Given the description of an element on the screen output the (x, y) to click on. 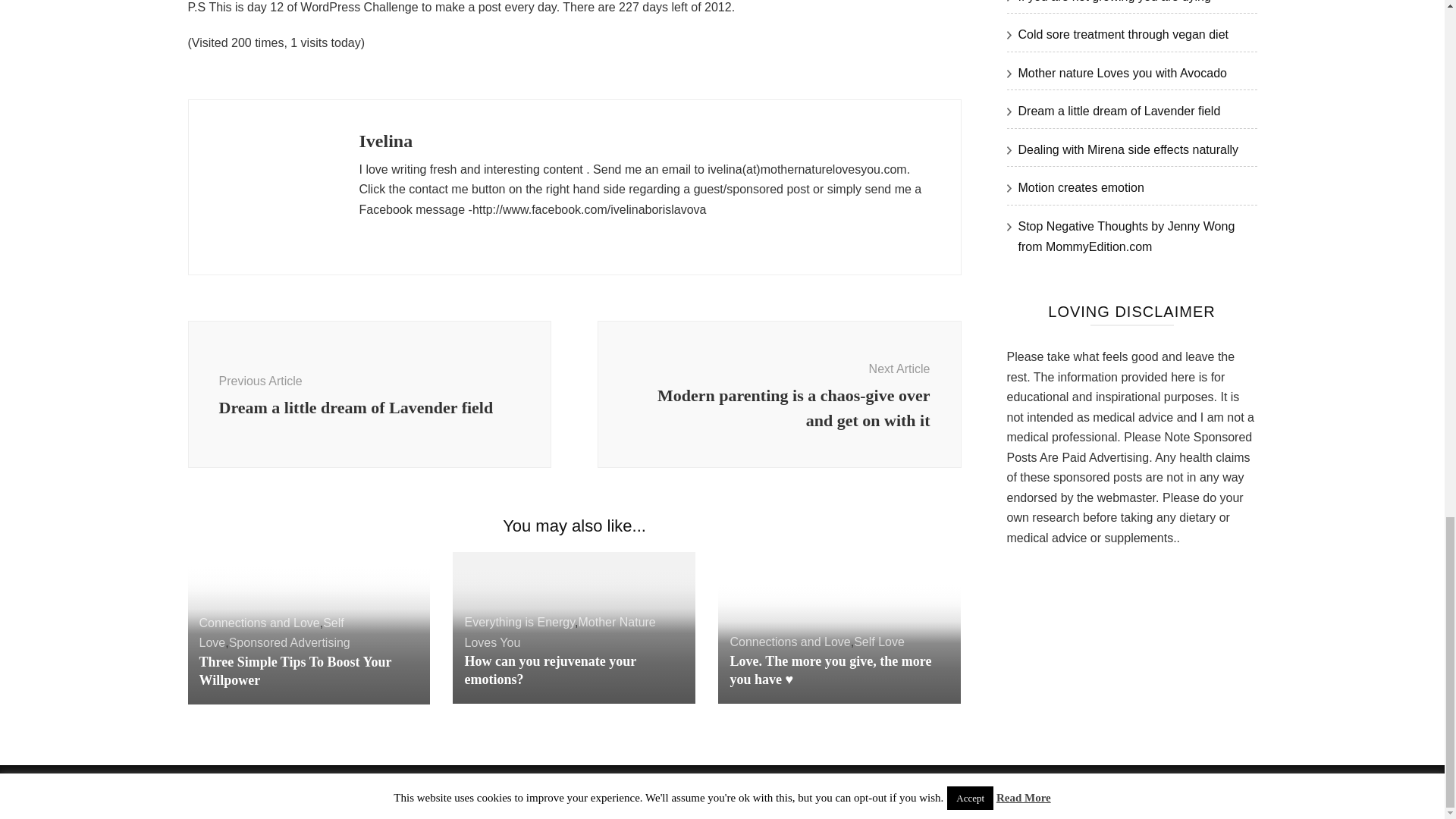
Self Love (270, 633)
How can you rejuvenate your emotions? (549, 670)
Three Simple Tips To Boost Your Willpower (369, 394)
Mother Nature Loves You (294, 670)
Connections and Love (559, 632)
Self Love (258, 622)
Sponsored Advertising (878, 641)
Everything is Energy (289, 642)
